Given the description of an element on the screen output the (x, y) to click on. 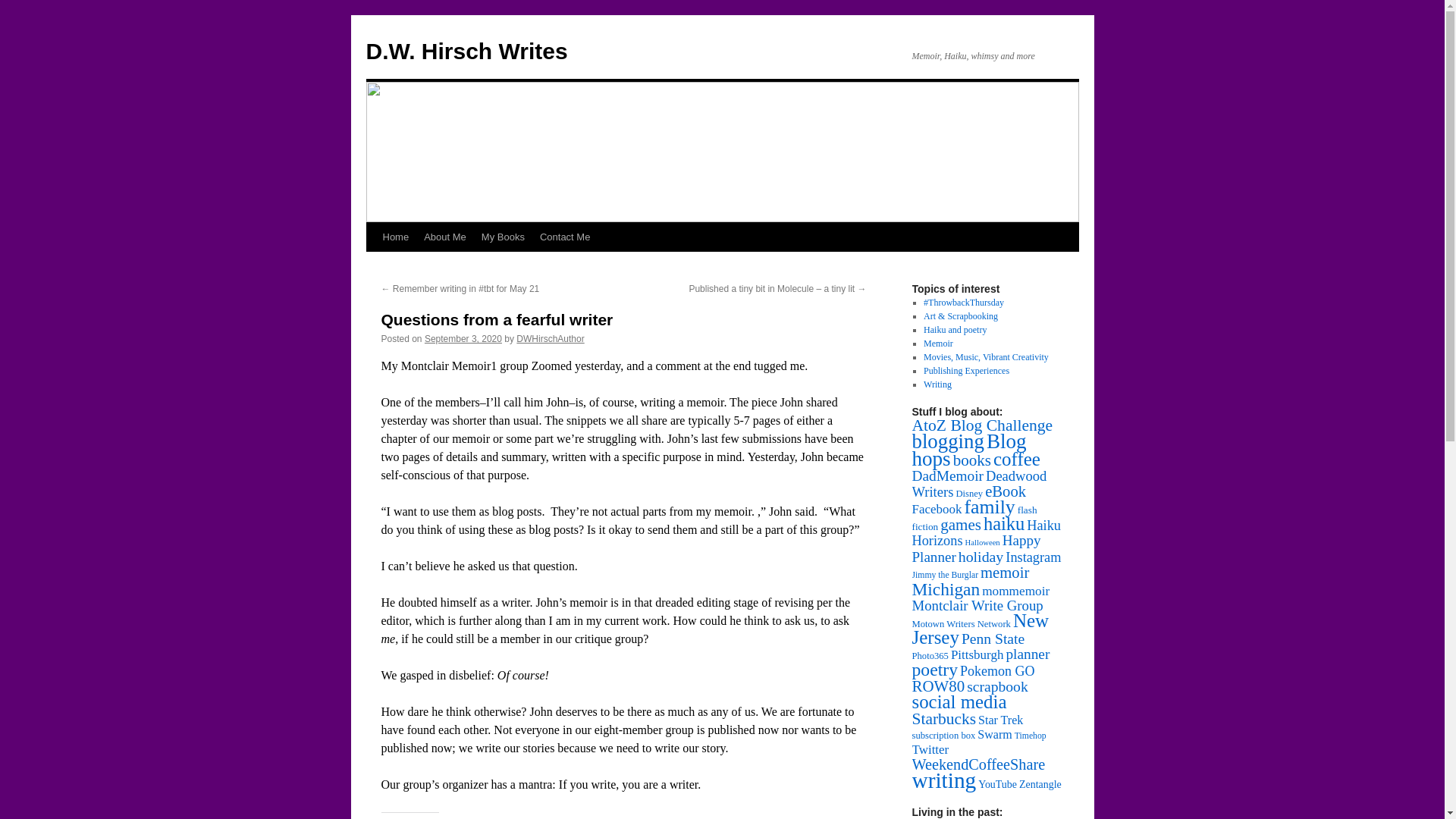
Blog hops (968, 449)
Memoir (938, 343)
Deadwood Writers (978, 483)
books (972, 460)
blogging (947, 440)
View all posts by DWHirschAuthor (549, 338)
Publishing Experiences (966, 370)
Contact Me (564, 236)
Writing (937, 384)
D.W. Hirsch Writes (466, 50)
DWHirschAuthor (549, 338)
About Me (445, 236)
12:25 pm (463, 338)
Movies, Music, Vibrant Creativity (985, 357)
Haiku and poetry (955, 329)
